Given the description of an element on the screen output the (x, y) to click on. 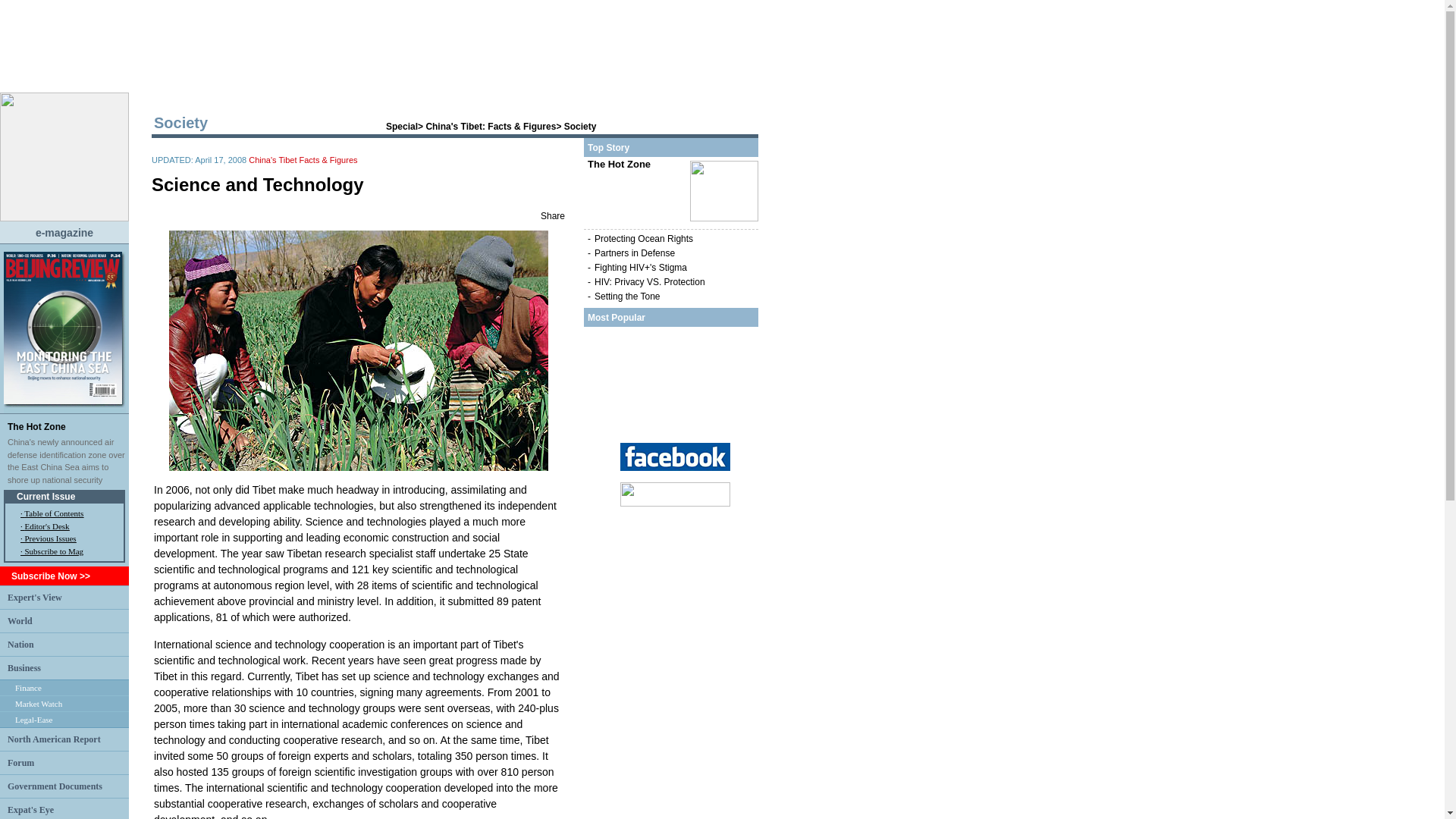
Expat's Eye (30, 808)
e-magazine (63, 232)
Market Watch (38, 703)
Current Issue (45, 496)
Business (23, 667)
The Hot Zone (36, 426)
North American Report (53, 738)
Finance (28, 687)
Government Documents (54, 786)
Nation (20, 643)
Forum (20, 761)
Table of Contents (53, 512)
Expert's View (34, 596)
Legal-Ease (33, 718)
